Given the description of an element on the screen output the (x, y) to click on. 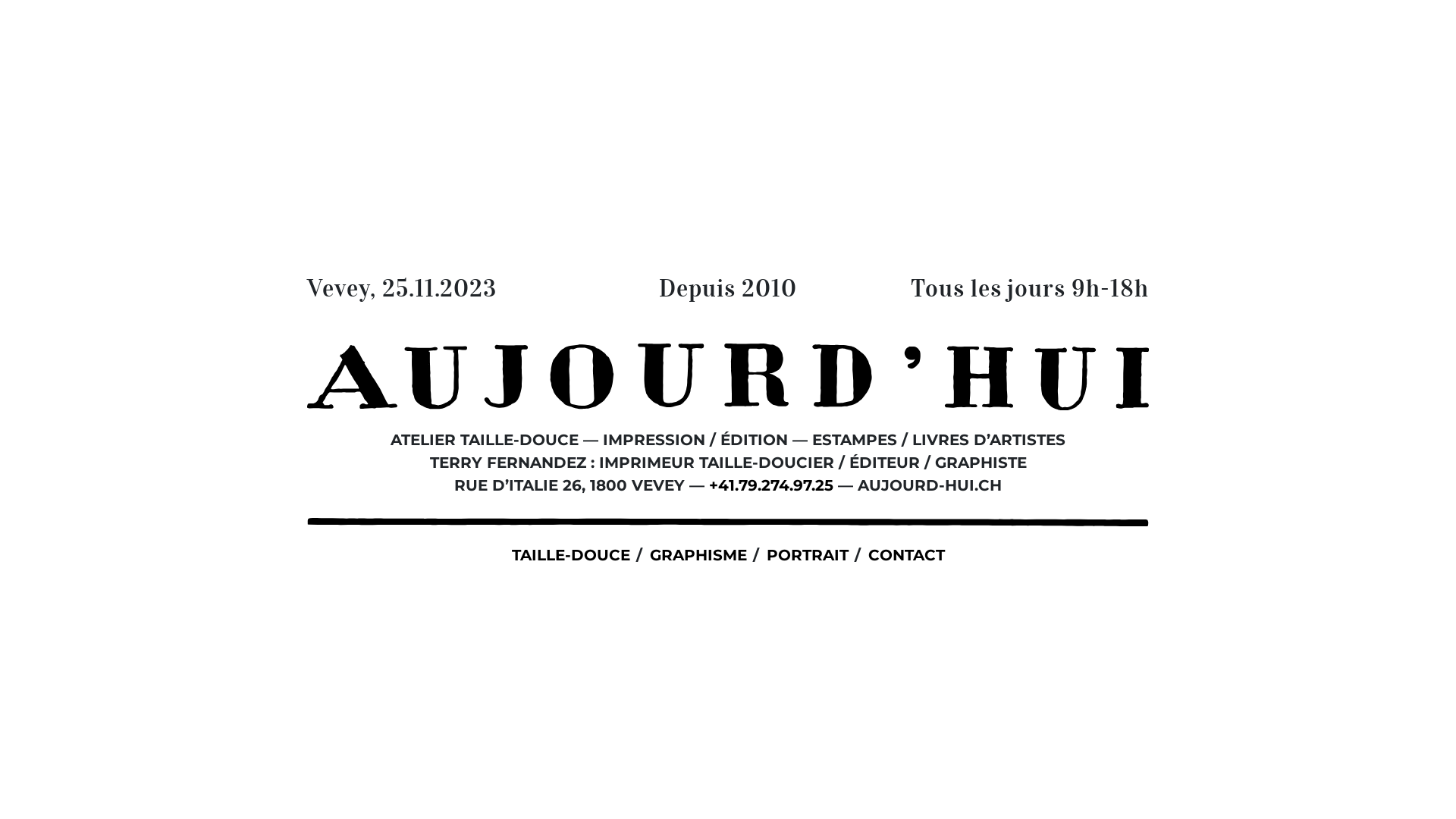
GRAPHISME Element type: text (697, 555)
+41.79.274.97.25 Element type: text (771, 485)
PORTRAIT Element type: text (806, 555)
TAILLE-DOUCE Element type: text (570, 555)
CONTACT Element type: text (905, 555)
